Given the description of an element on the screen output the (x, y) to click on. 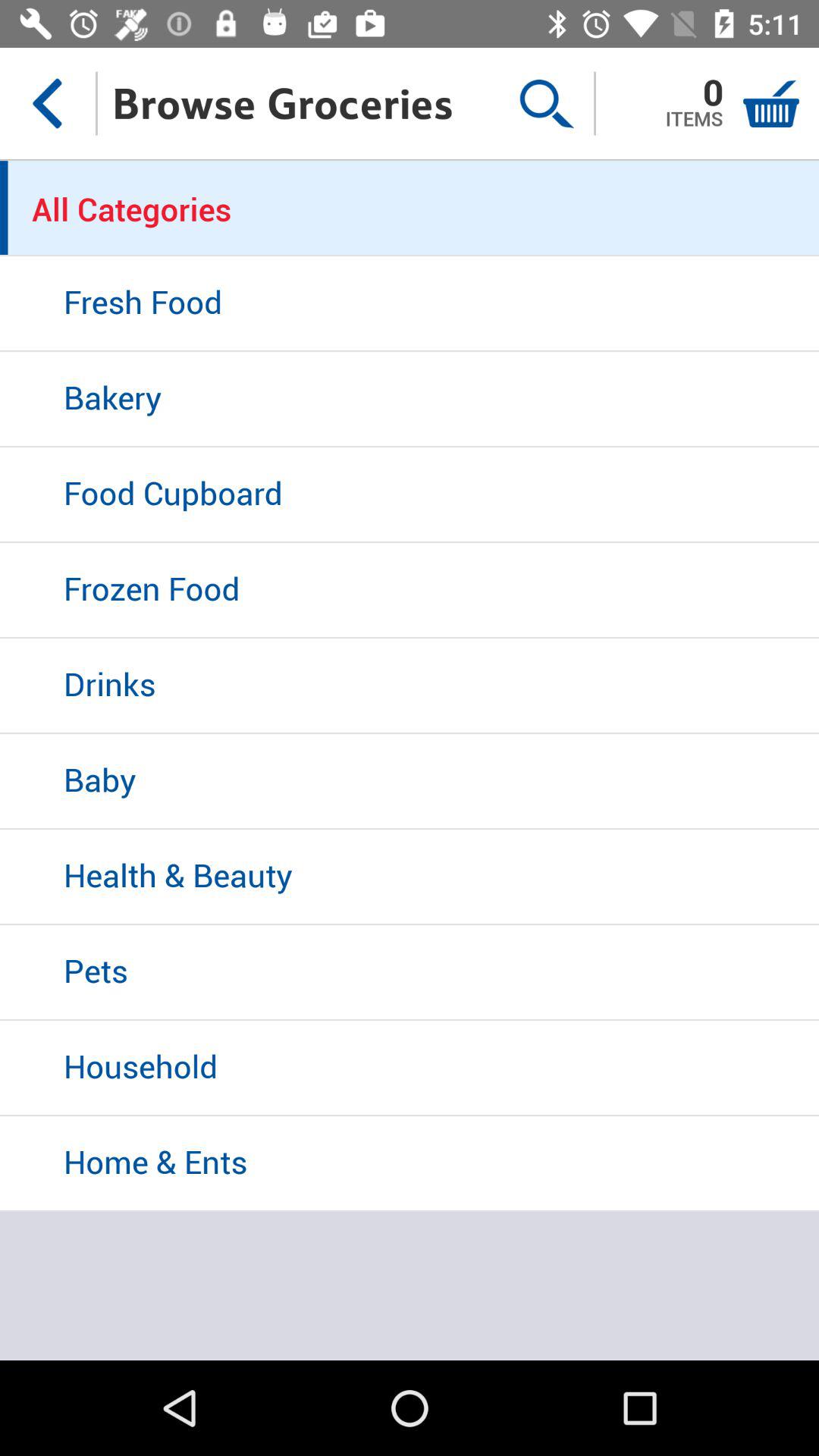
swipe until the household (409, 1068)
